Given the description of an element on the screen output the (x, y) to click on. 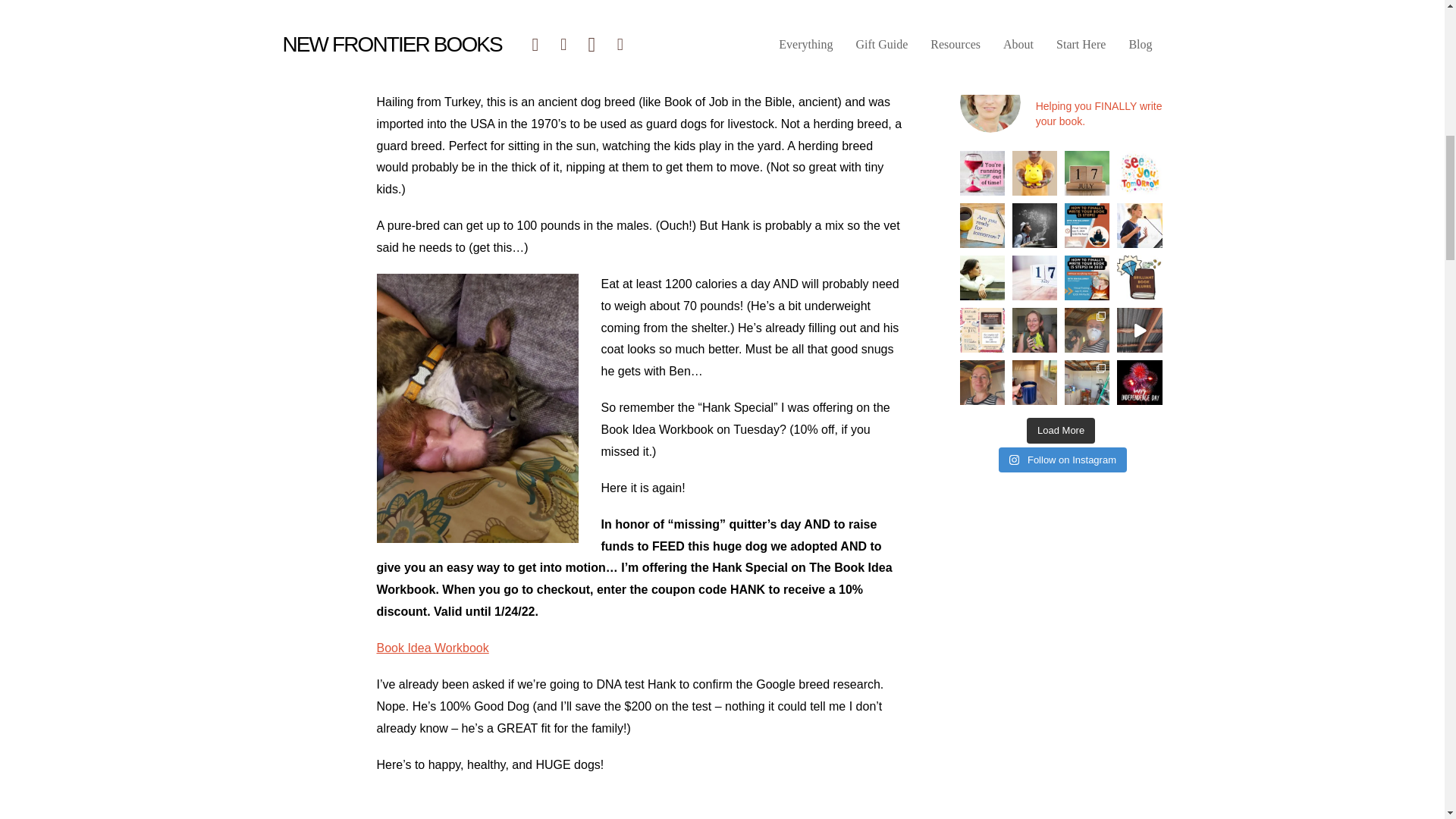
Book Idea Workbook (431, 647)
